Given the description of an element on the screen output the (x, y) to click on. 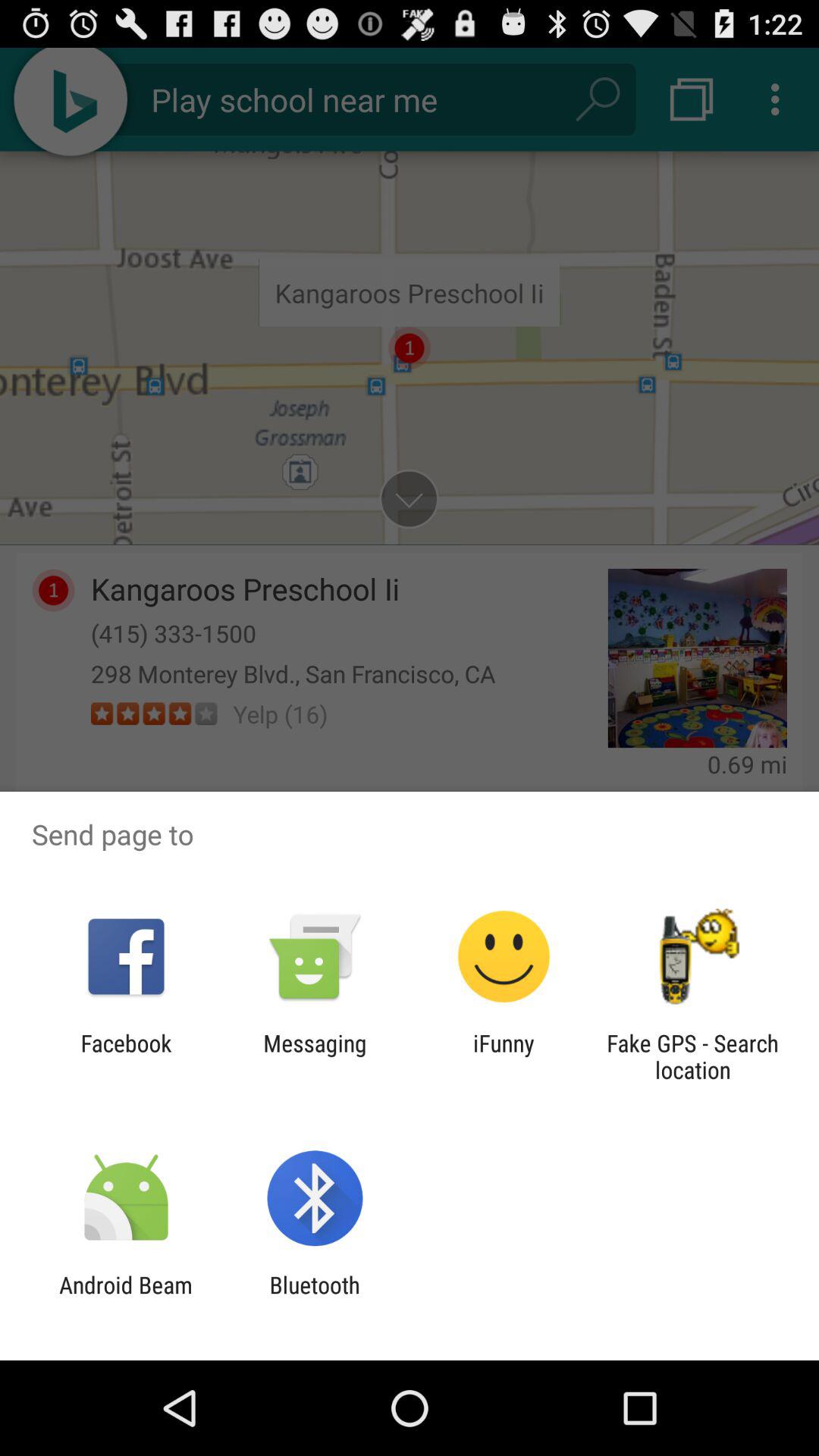
flip until the fake gps search app (692, 1056)
